Given the description of an element on the screen output the (x, y) to click on. 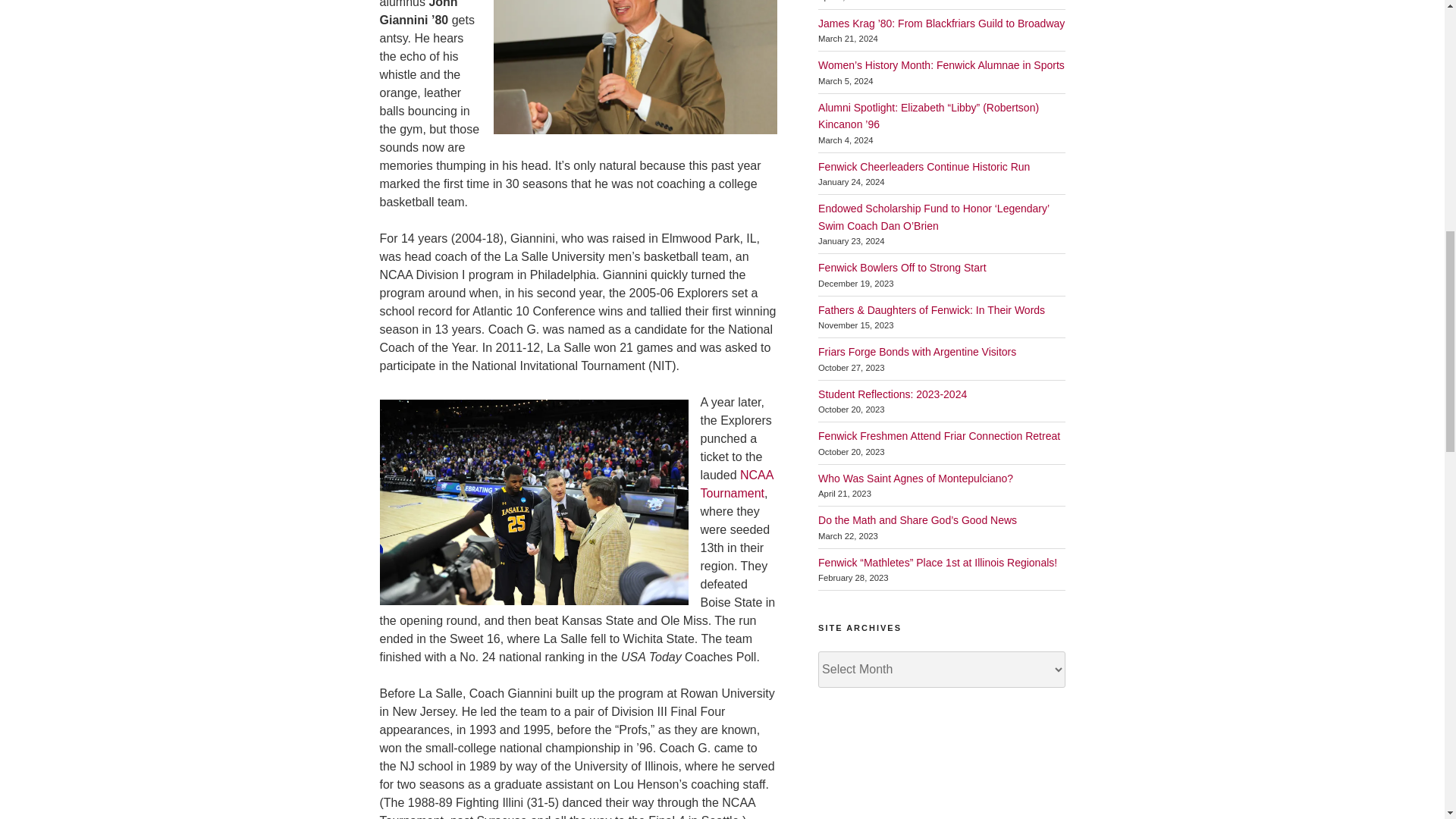
Student Reflections: 2023-2024 (892, 394)
NCAA Tournament (736, 483)
Fenwick Cheerleaders Continue Historic Run (923, 166)
Who Was Saint Agnes of Montepulciano? (915, 478)
Friars Forge Bonds with Argentine Visitors (917, 351)
Fenwick Bowlers Off to Strong Start (902, 267)
Fenwick Freshmen Attend Friar Connection Retreat (938, 435)
